Given the description of an element on the screen output the (x, y) to click on. 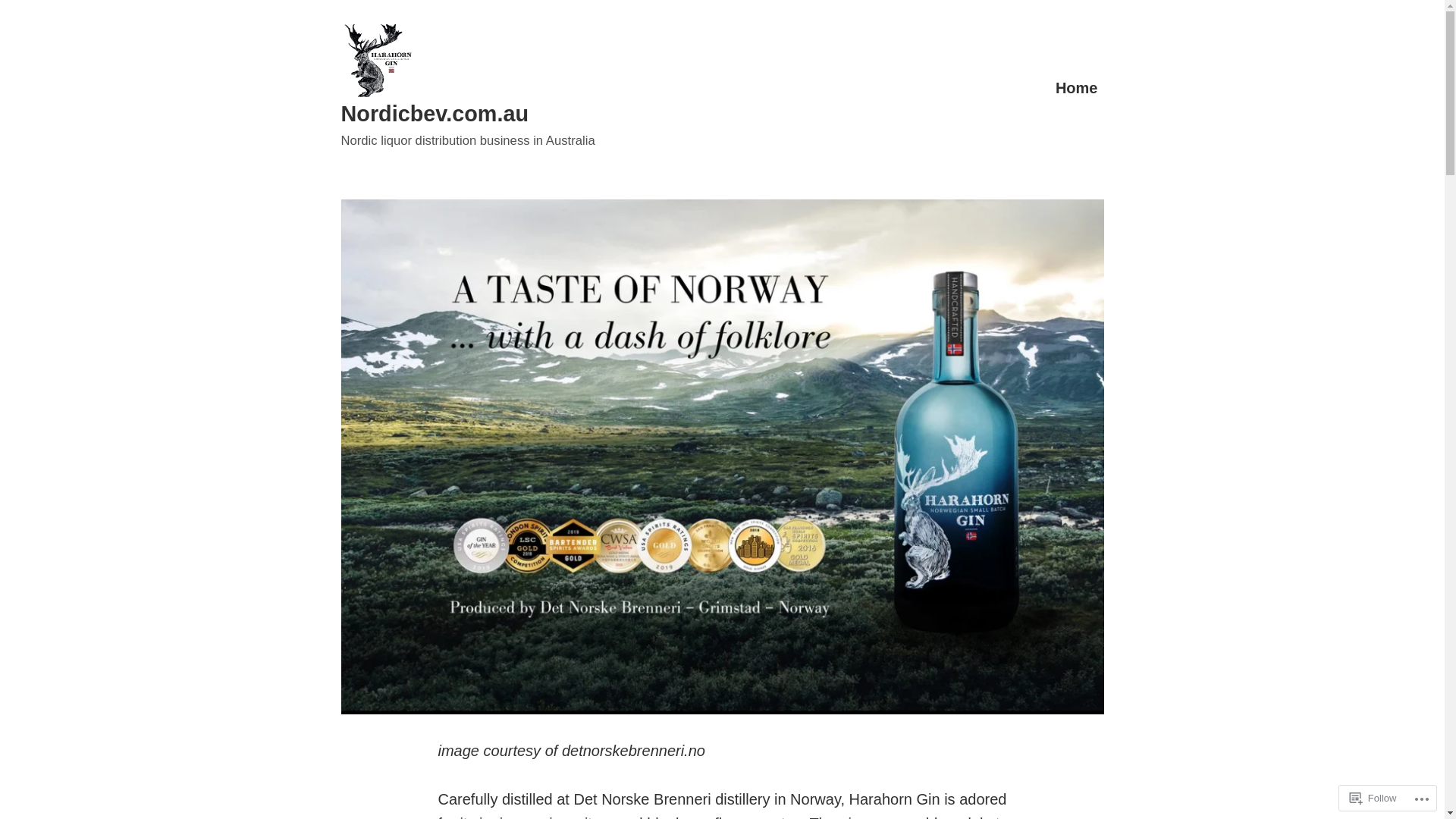
Home Element type: text (1076, 87)
Follow Element type: text (1372, 797)
Nordicbev.com.au Element type: text (435, 113)
